Given the description of an element on the screen output the (x, y) to click on. 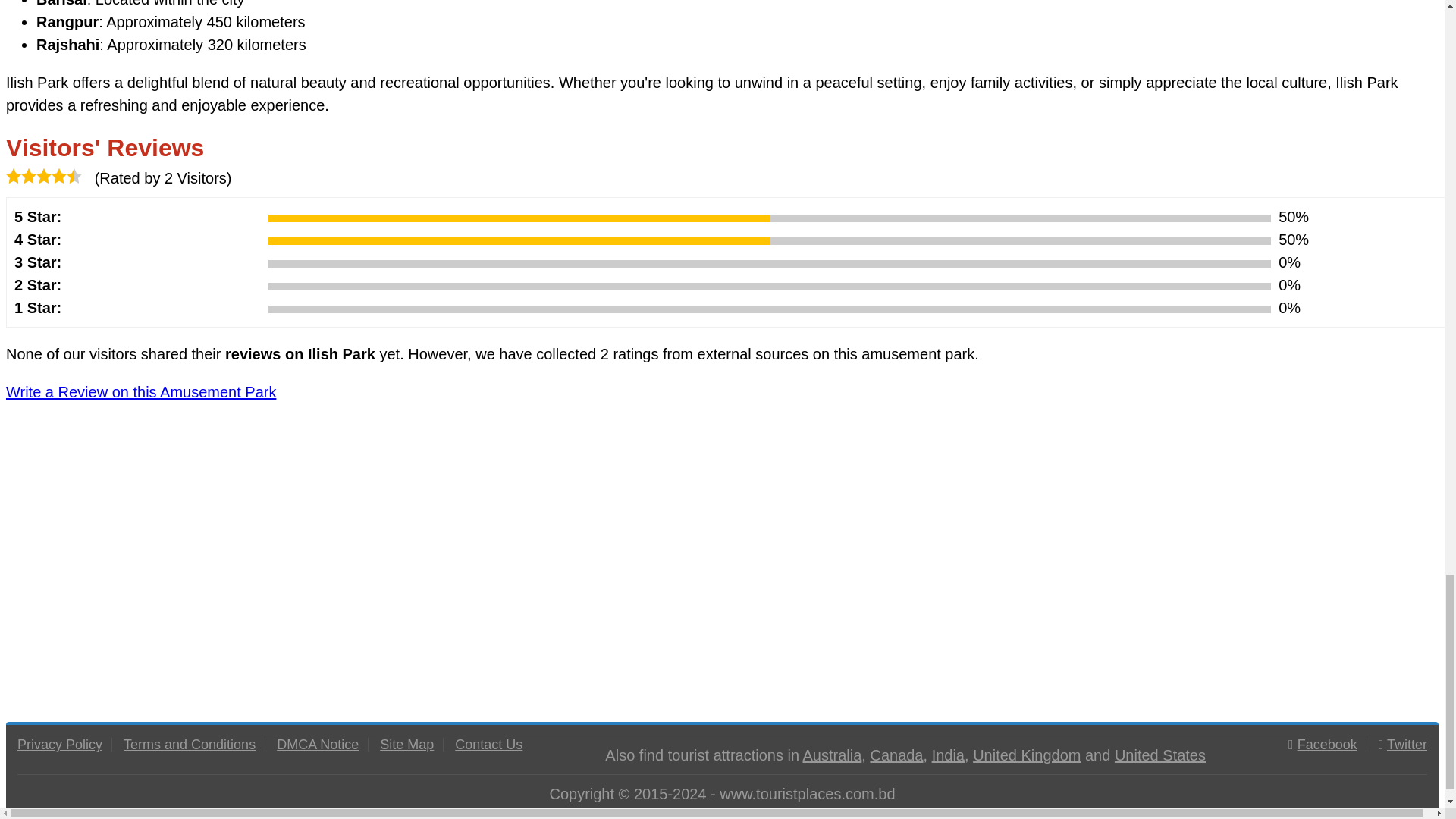
Site Map (406, 744)
Write a Review on this Amusement Park (140, 392)
Contact Us (488, 744)
Privacy Policy (59, 744)
DMCA Notice (317, 744)
Share your experience on Ilish Park (140, 392)
Terms and Conditions (189, 744)
